Given the description of an element on the screen output the (x, y) to click on. 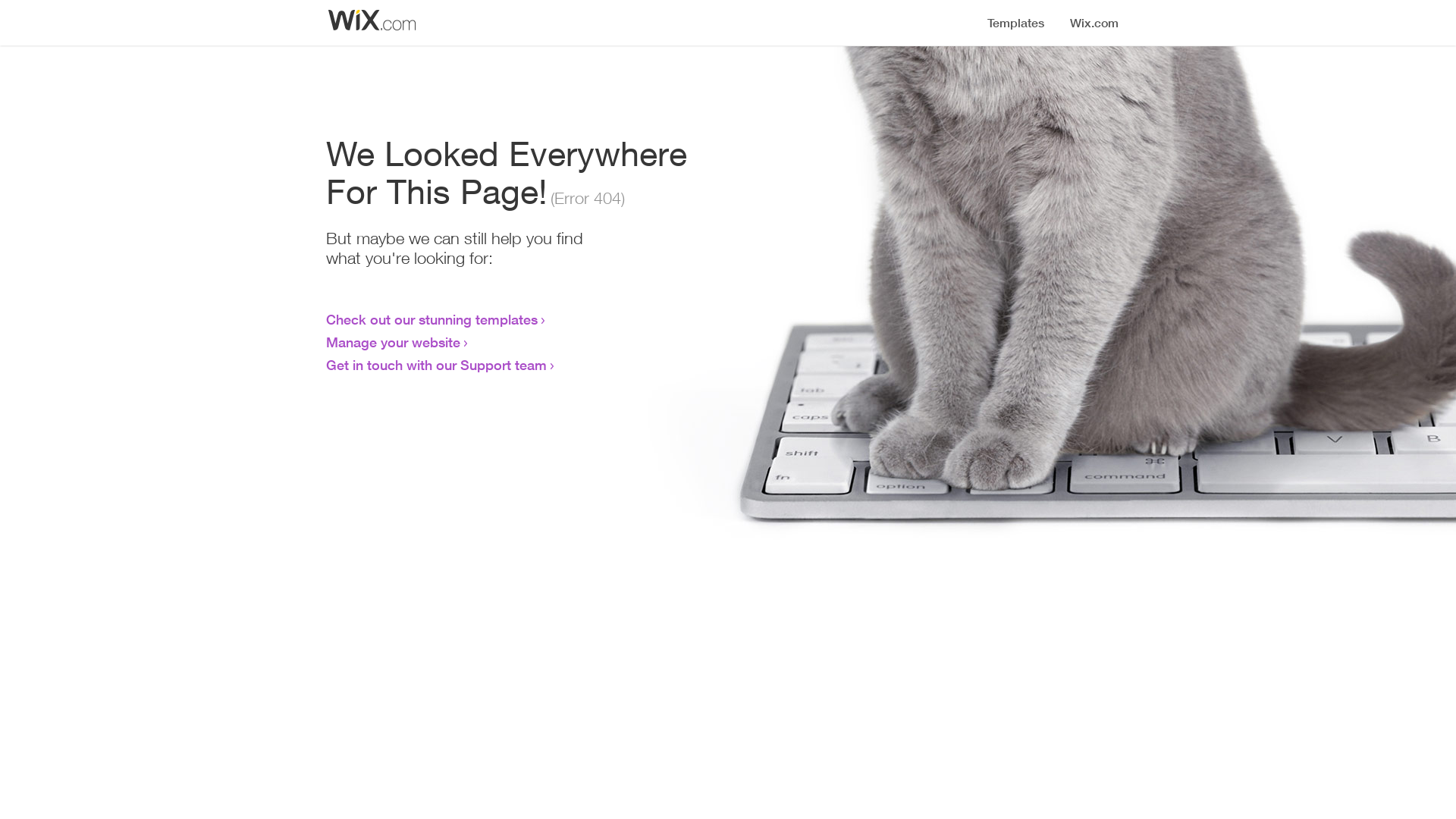
Check out our stunning templates Element type: text (431, 318)
Get in touch with our Support team Element type: text (436, 364)
Manage your website Element type: text (393, 341)
